Given the description of an element on the screen output the (x, y) to click on. 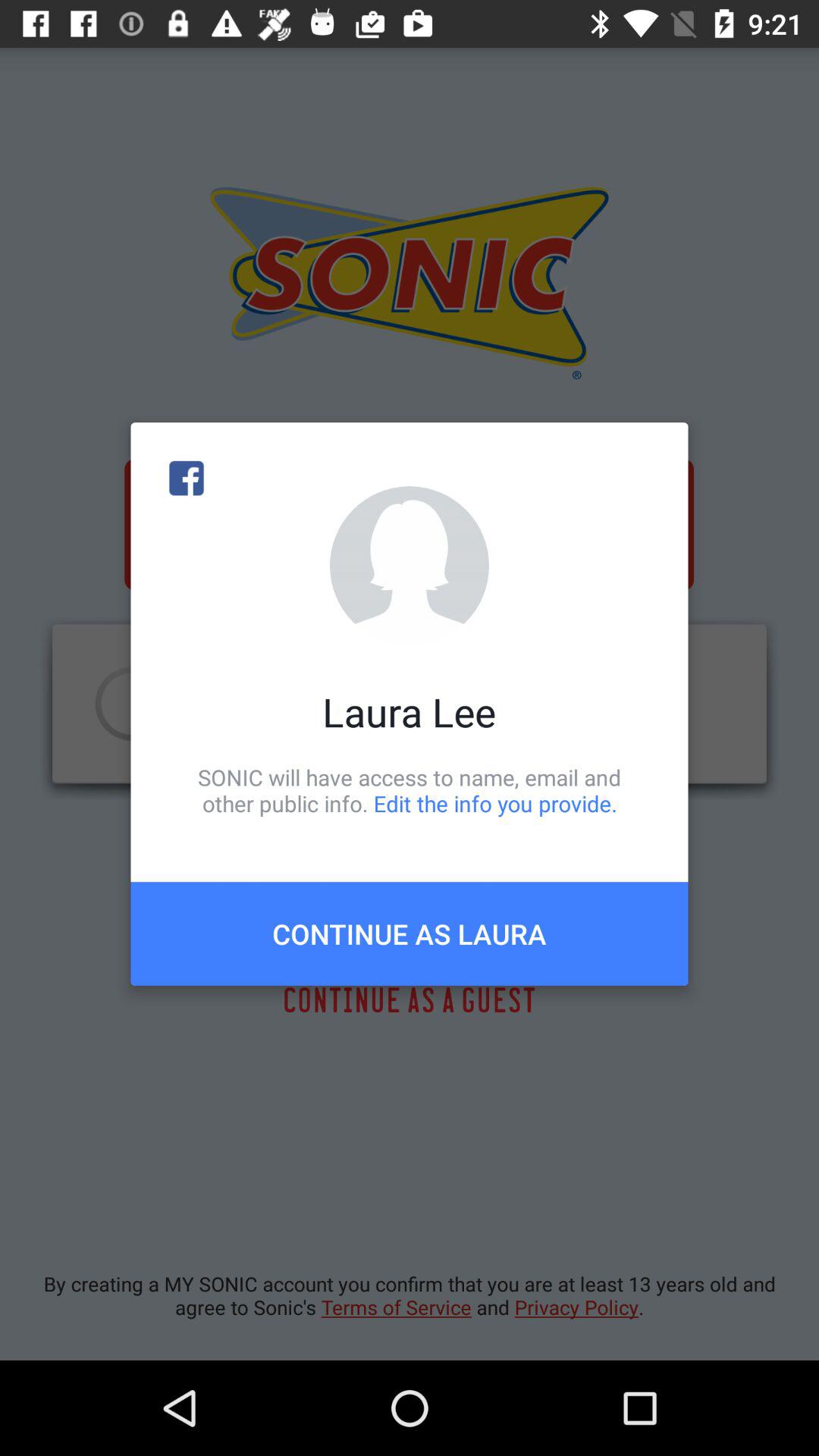
turn off item below laura lee (409, 790)
